Given the description of an element on the screen output the (x, y) to click on. 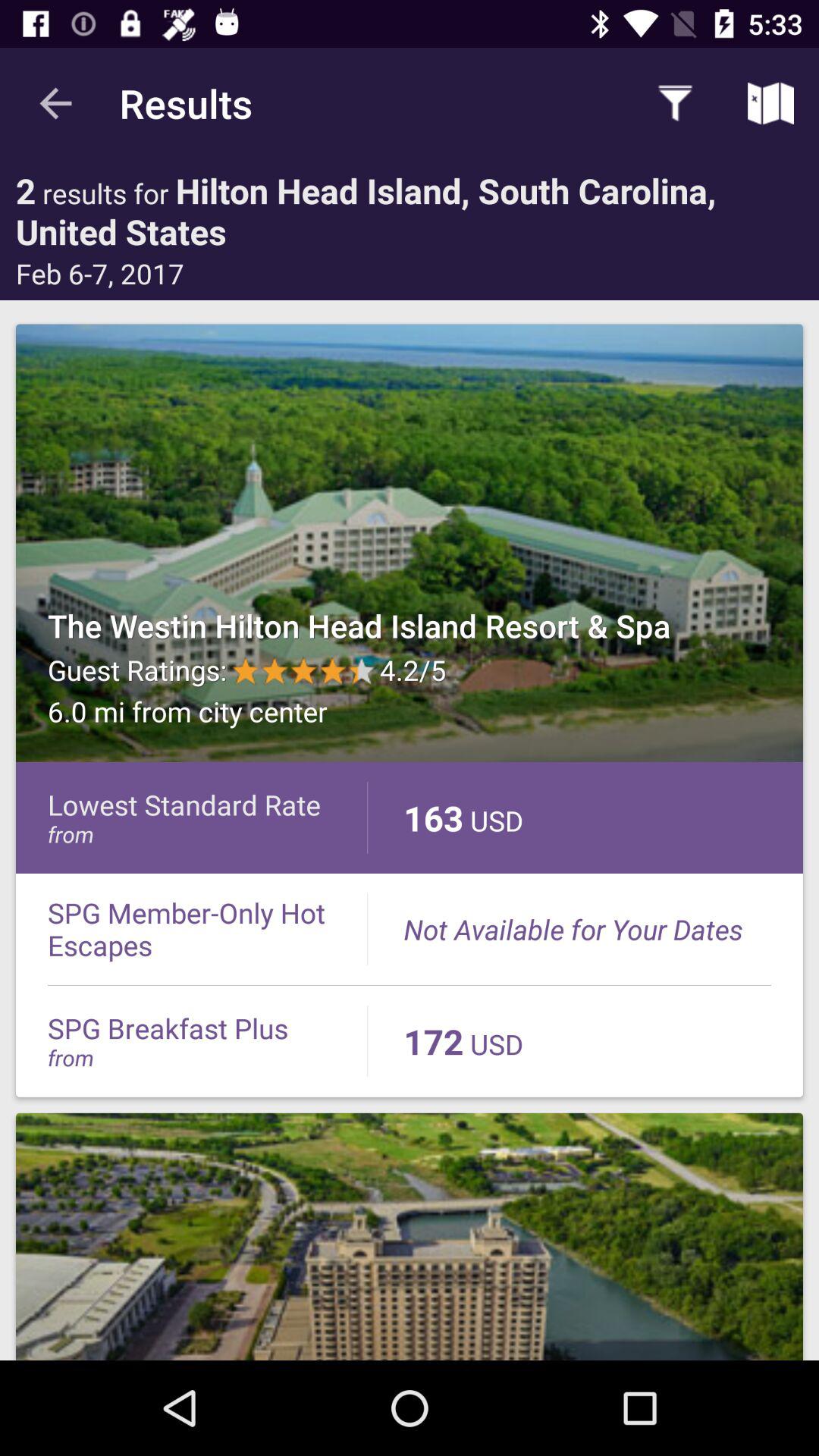
hotel rating/link (409, 543)
